Given the description of an element on the screen output the (x, y) to click on. 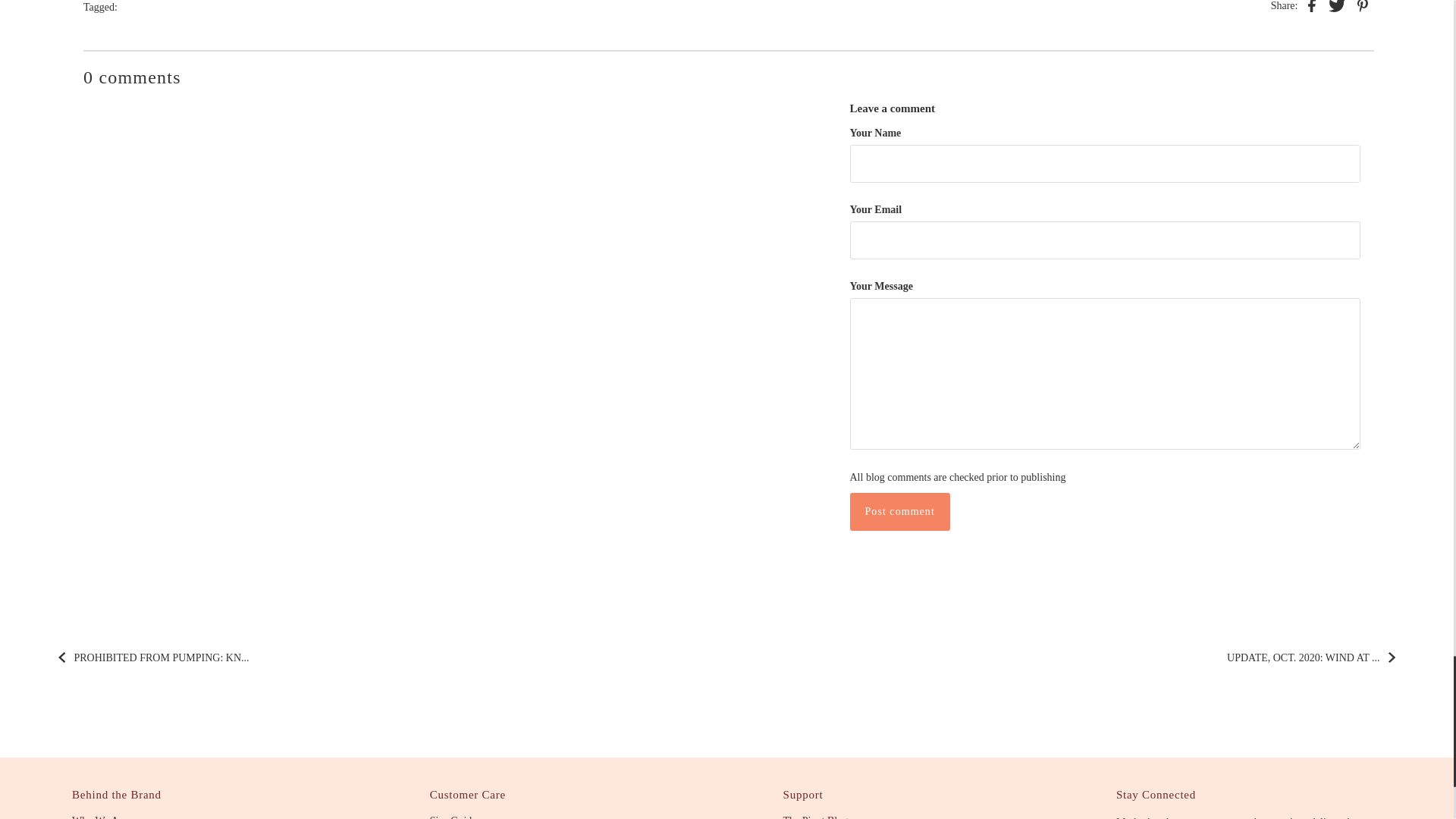
Share on Facebook (1311, 7)
Share on Pinterest (1362, 7)
Share on Twitter (1336, 7)
Post comment (898, 511)
